Given the description of an element on the screen output the (x, y) to click on. 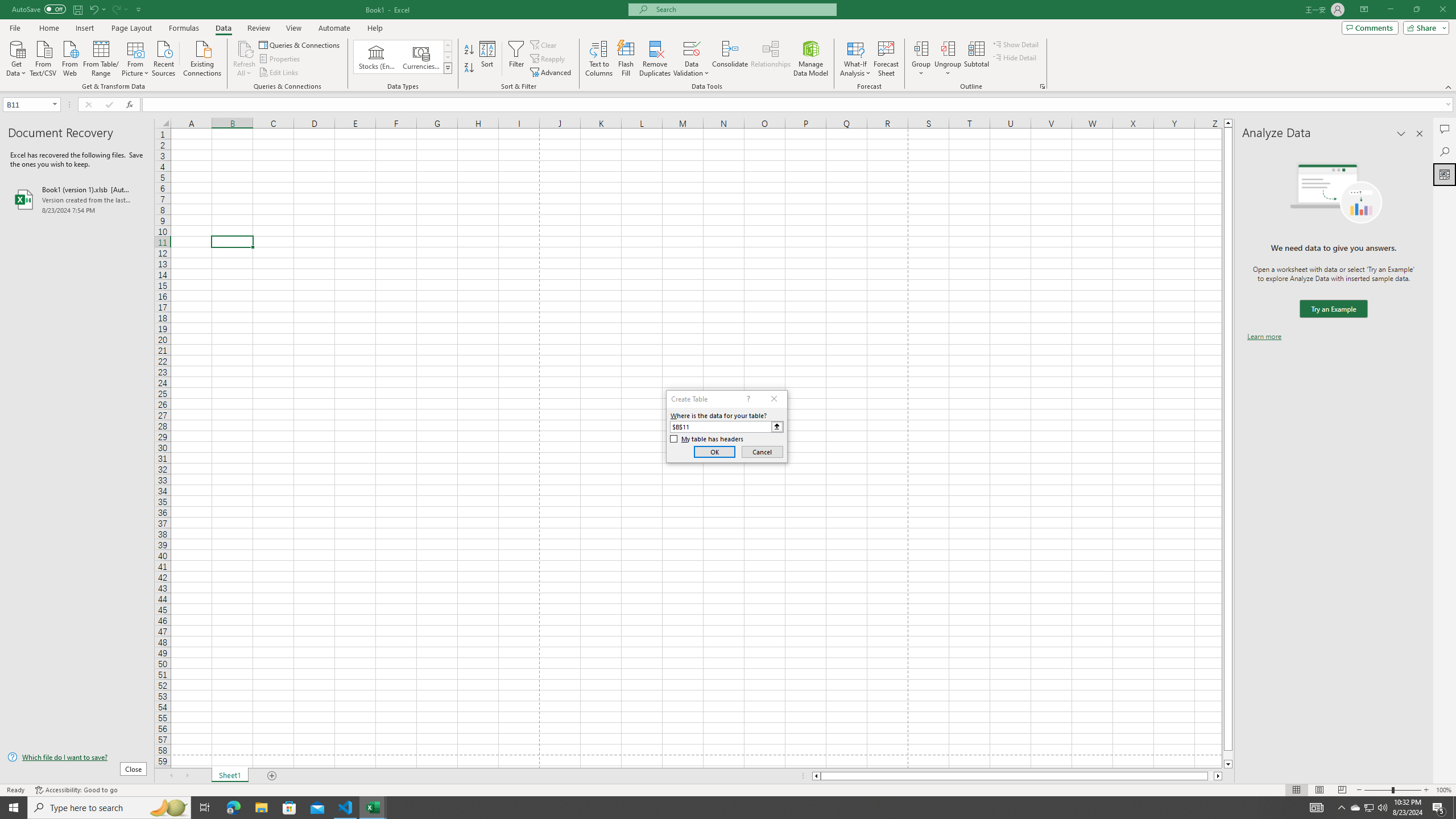
Which file do I want to save? (77, 757)
From Web (69, 57)
Sort Z to A (469, 67)
Group... (921, 58)
Queries & Connections (300, 44)
AutoSave (38, 9)
Formula Bar (799, 104)
